Given the description of an element on the screen output the (x, y) to click on. 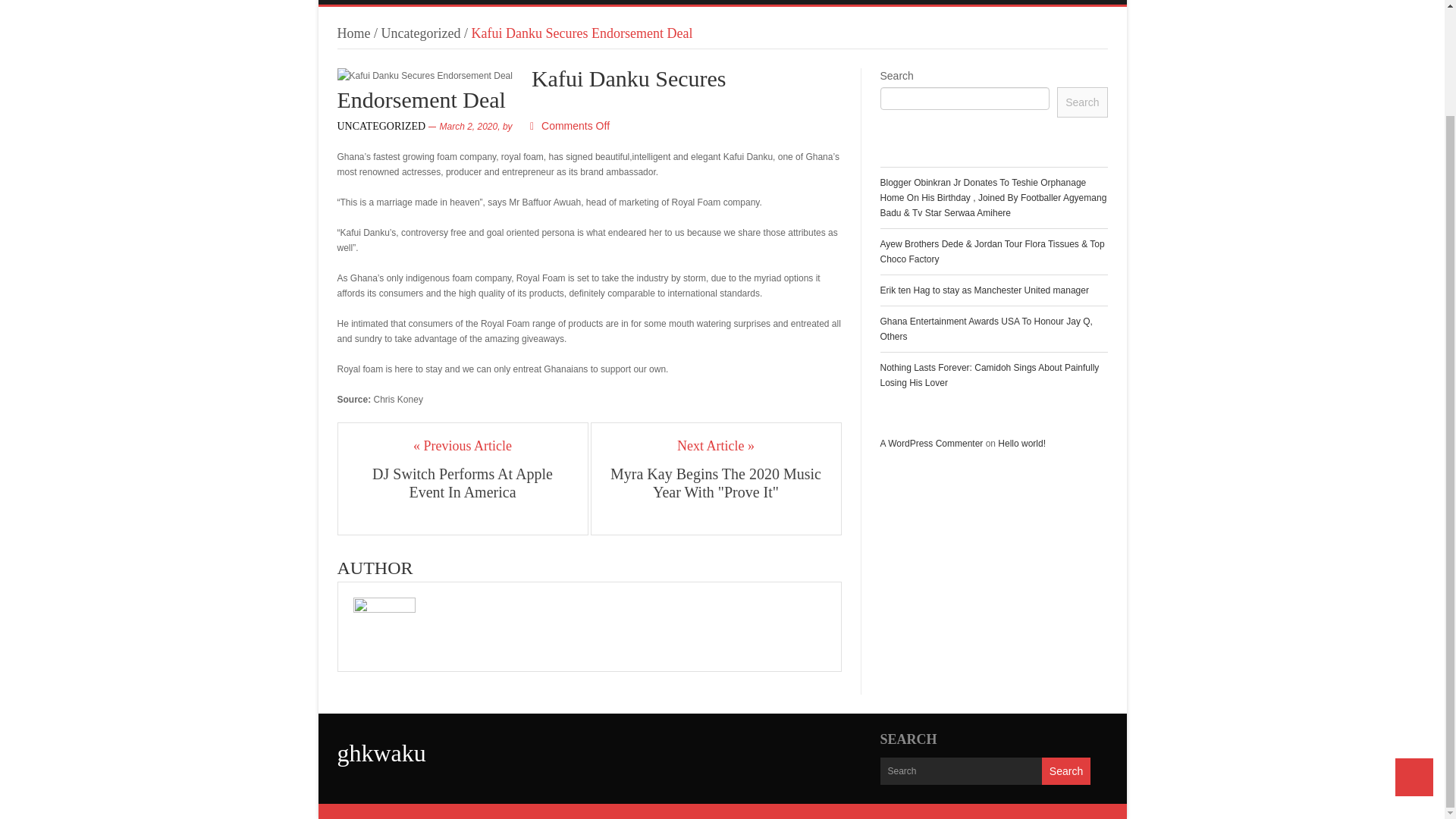
UNCATEGORIZED (380, 125)
A WordPress Commenter (930, 443)
Uncategorized (421, 32)
Search (1081, 101)
DJ Switch Performs At Apple Event In America (462, 483)
Home (352, 32)
Erik ten Hag to stay as Manchester United manager (983, 290)
Myra Kay Begins The 2020 Music Year With "Prove It" (716, 483)
Search (1066, 770)
